Given the description of an element on the screen output the (x, y) to click on. 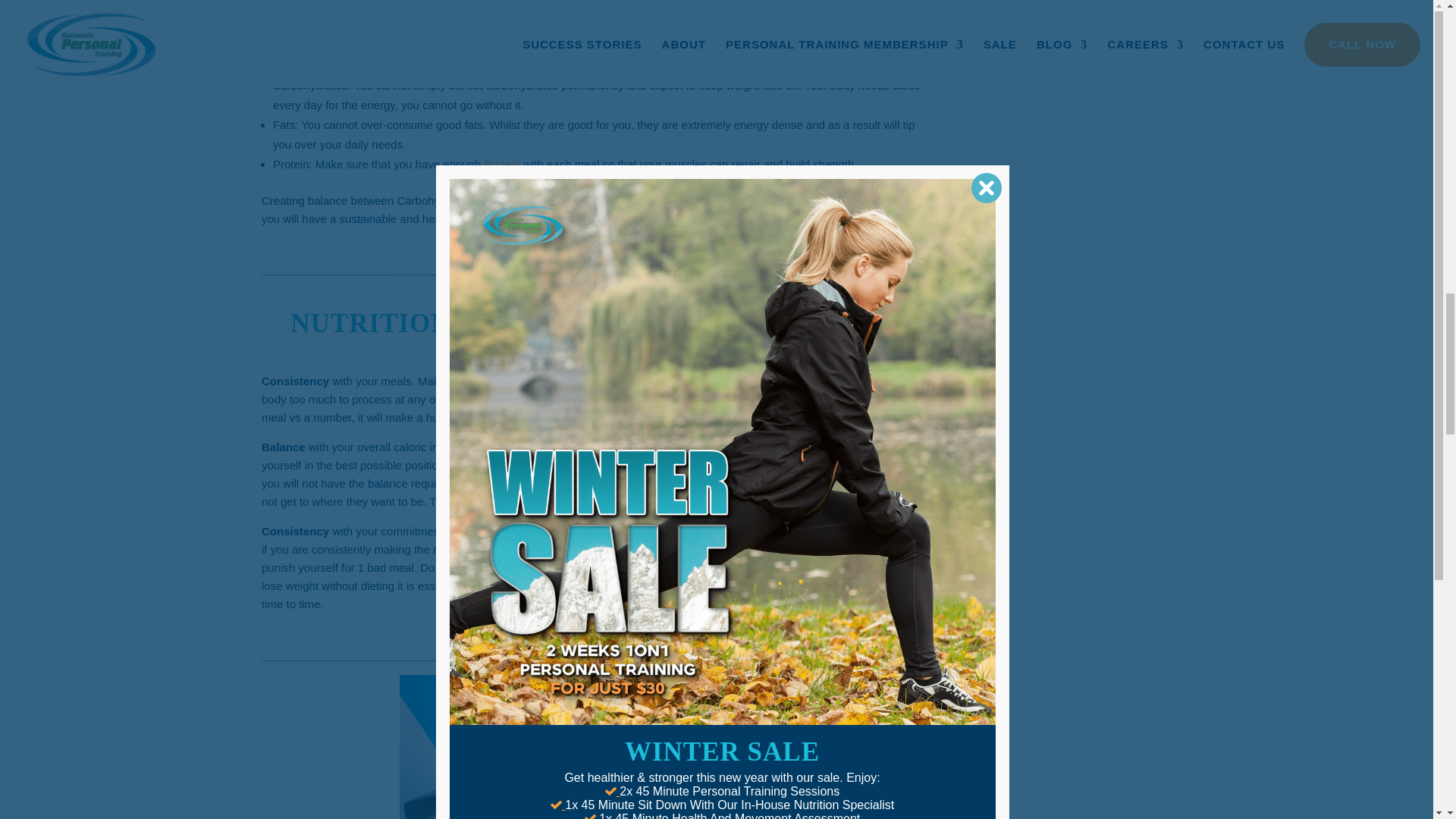
Protein (502, 164)
